Given the description of an element on the screen output the (x, y) to click on. 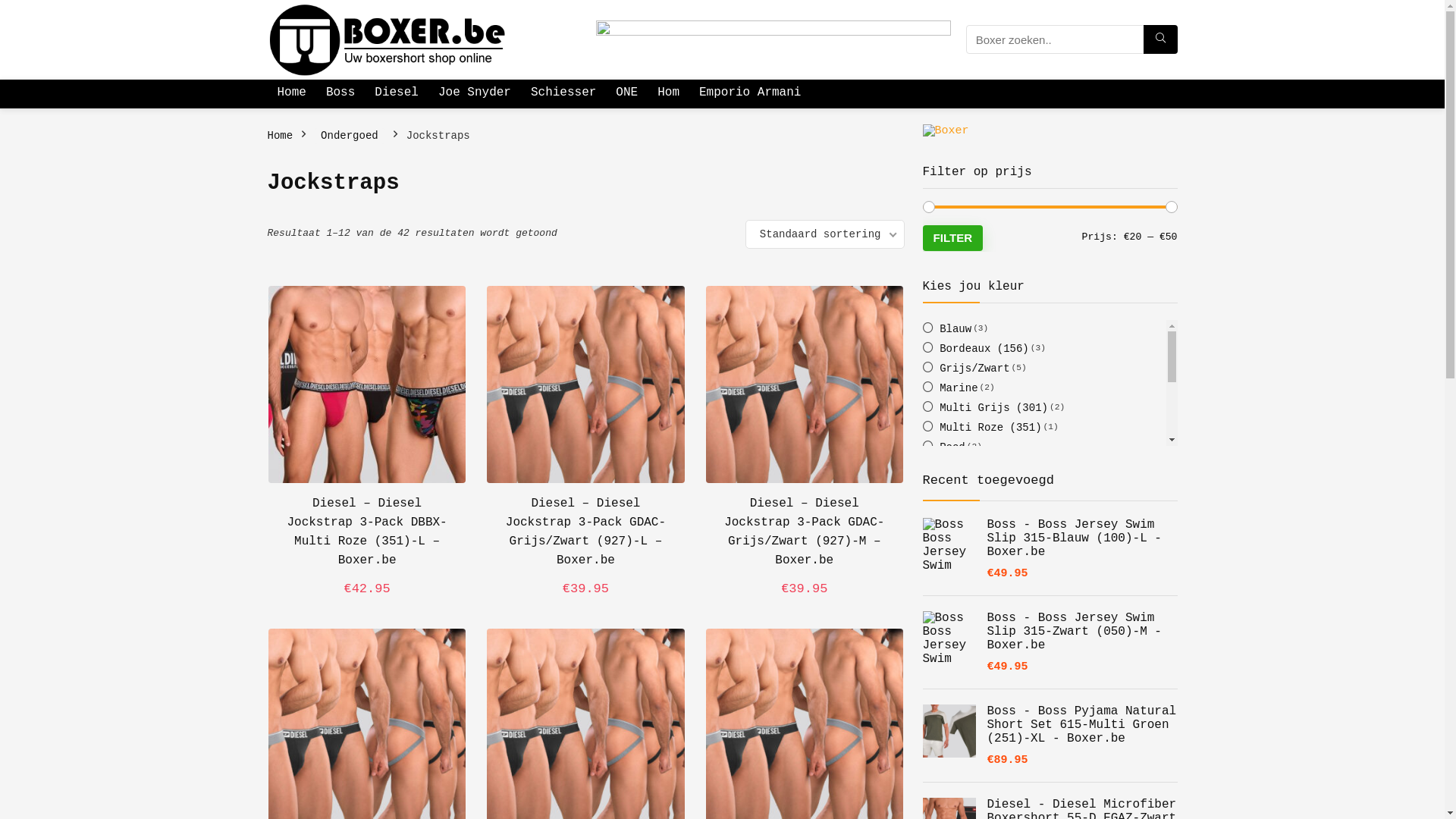
Home Element type: text (290, 93)
Emporio Armani Element type: text (749, 93)
Diesel Element type: text (396, 93)
Multi Roze (351) Element type: text (981, 427)
Grijs/Zwart Element type: text (965, 368)
FILTER Element type: text (952, 238)
Ondergoed Element type: text (349, 136)
Transparant Wit (005) Element type: text (997, 467)
Zwart Element type: text (946, 545)
ONE Element type: text (626, 93)
Multi Grijs (301) Element type: text (984, 407)
Schiesser Element type: text (562, 93)
Hom Element type: text (668, 93)
Boss - Boss Jersey Swim Slip 315-Zwart (050)-M - Boxer.be Element type: text (1049, 631)
Boss - Boss Jersey Swim Slip 315-Blauw (100)-L - Boxer.be Element type: text (1049, 537)
Home Element type: text (279, 135)
Blauw Element type: text (946, 329)
Marine Element type: text (949, 388)
Transparant Zwart (055) Element type: text (1003, 486)
Wit Element type: text (940, 526)
Rood Element type: text (943, 447)
Bordeaux (156) Element type: text (975, 348)
Zwart/Rood Element type: text (962, 565)
Boss Element type: text (340, 93)
Turquoise Element type: text (959, 506)
Joe Snyder Element type: text (474, 93)
